Given the description of an element on the screen output the (x, y) to click on. 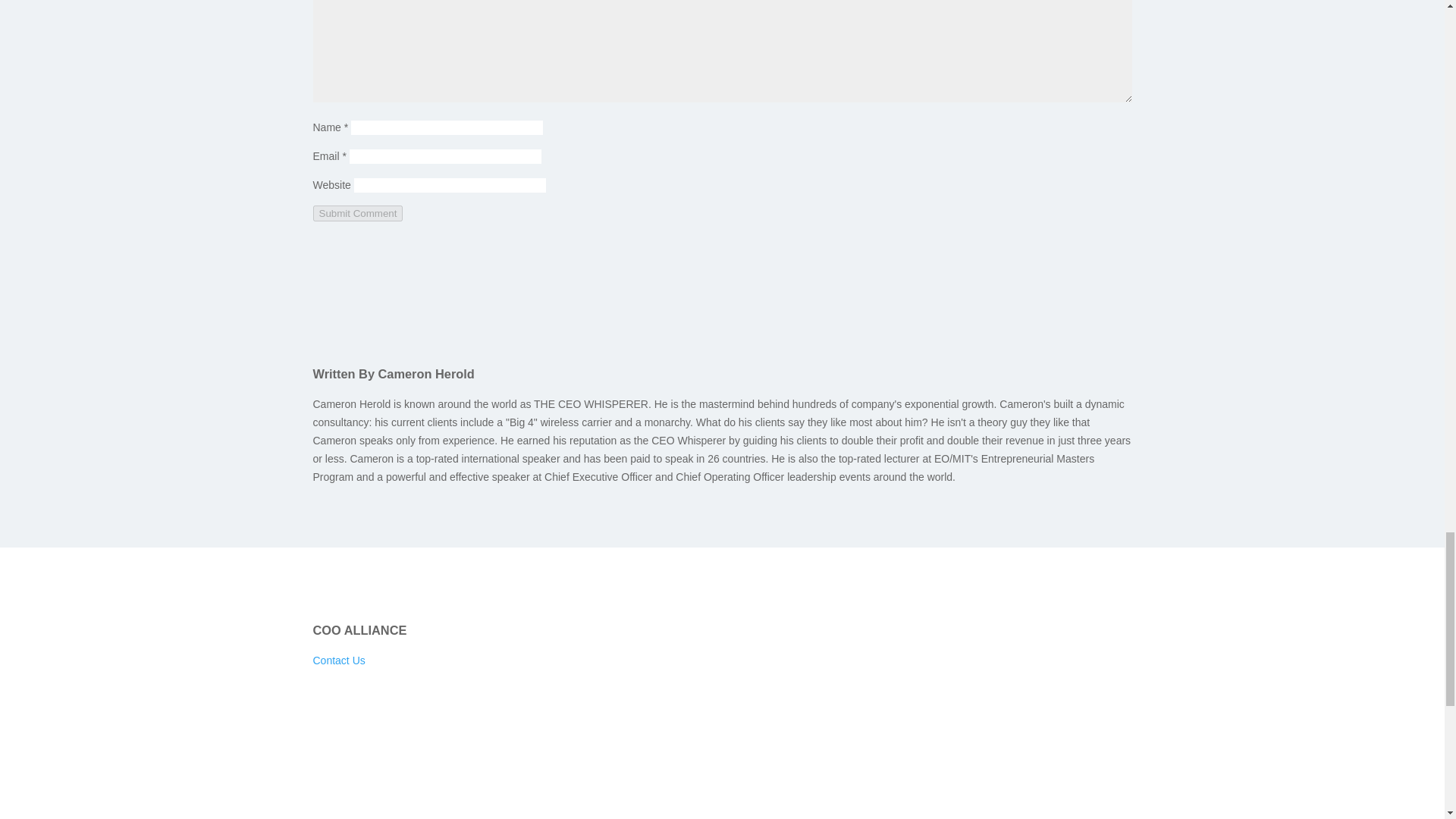
cooa-member-reviews-july-2024-02 (679, 683)
sic-footer-01 (540, 788)
Submit Comment (358, 213)
Contact Us (339, 660)
